Given the description of an element on the screen output the (x, y) to click on. 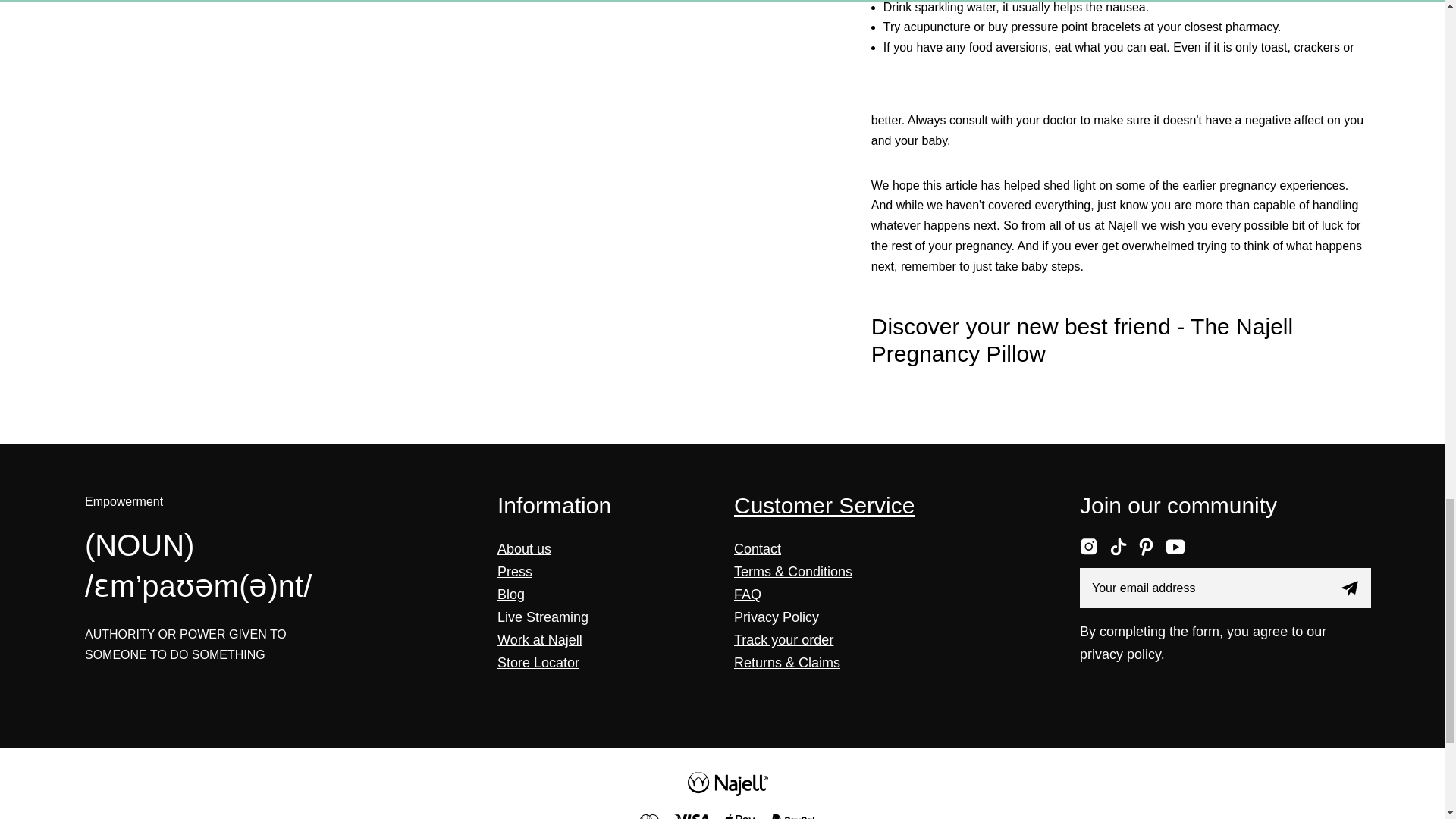
Work at Najell (539, 639)
Press (514, 571)
Live Streaming (542, 616)
Blog (510, 594)
Information (554, 505)
About us (524, 548)
